Given the description of an element on the screen output the (x, y) to click on. 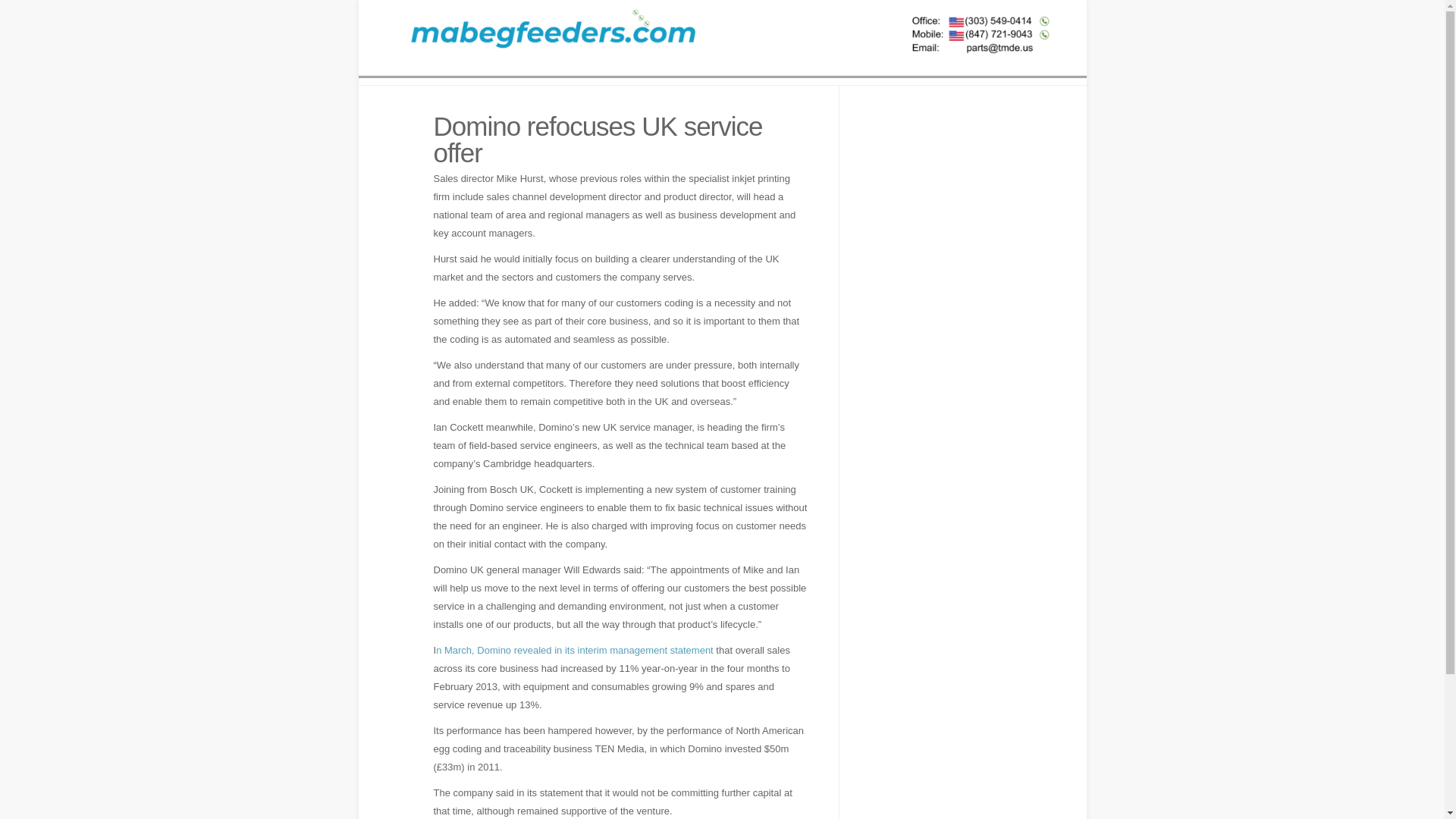
n March, Domino revealed in its interim management statement (575, 650)
